Given the description of an element on the screen output the (x, y) to click on. 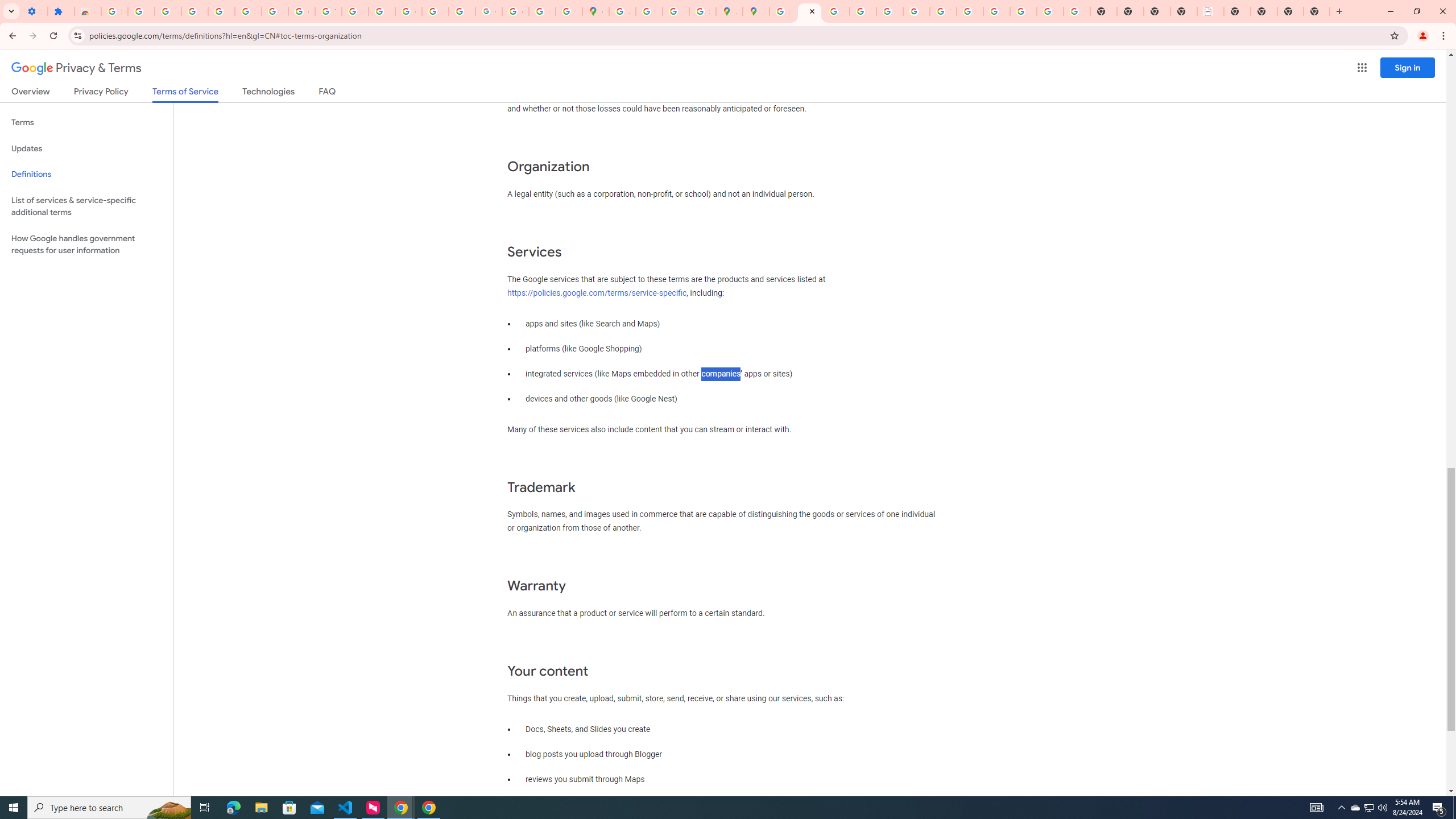
Sign in - Google Accounts (782, 11)
Settings - On startup (34, 11)
Sign in - Google Accounts (114, 11)
Learn how to find your photos - Google Photos Help (194, 11)
Sign in (1407, 67)
New Tab (1290, 11)
Privacy & Terms (76, 68)
Google Maps (595, 11)
Overview (30, 93)
Technologies (268, 93)
Delete photos & videos - Computer - Google Photos Help (167, 11)
